Given the description of an element on the screen output the (x, y) to click on. 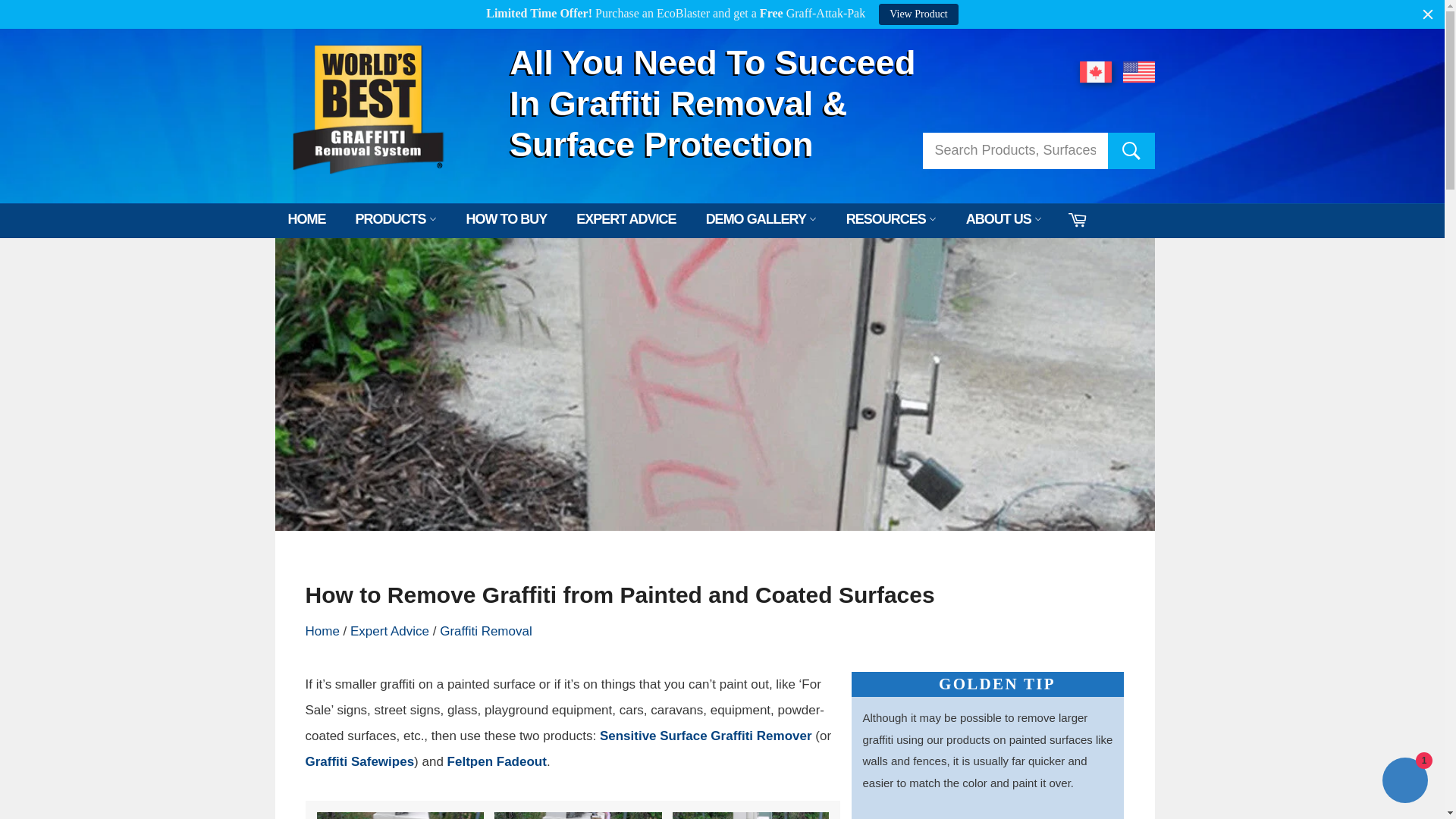
View Product (918, 14)
